Given the description of an element on the screen output the (x, y) to click on. 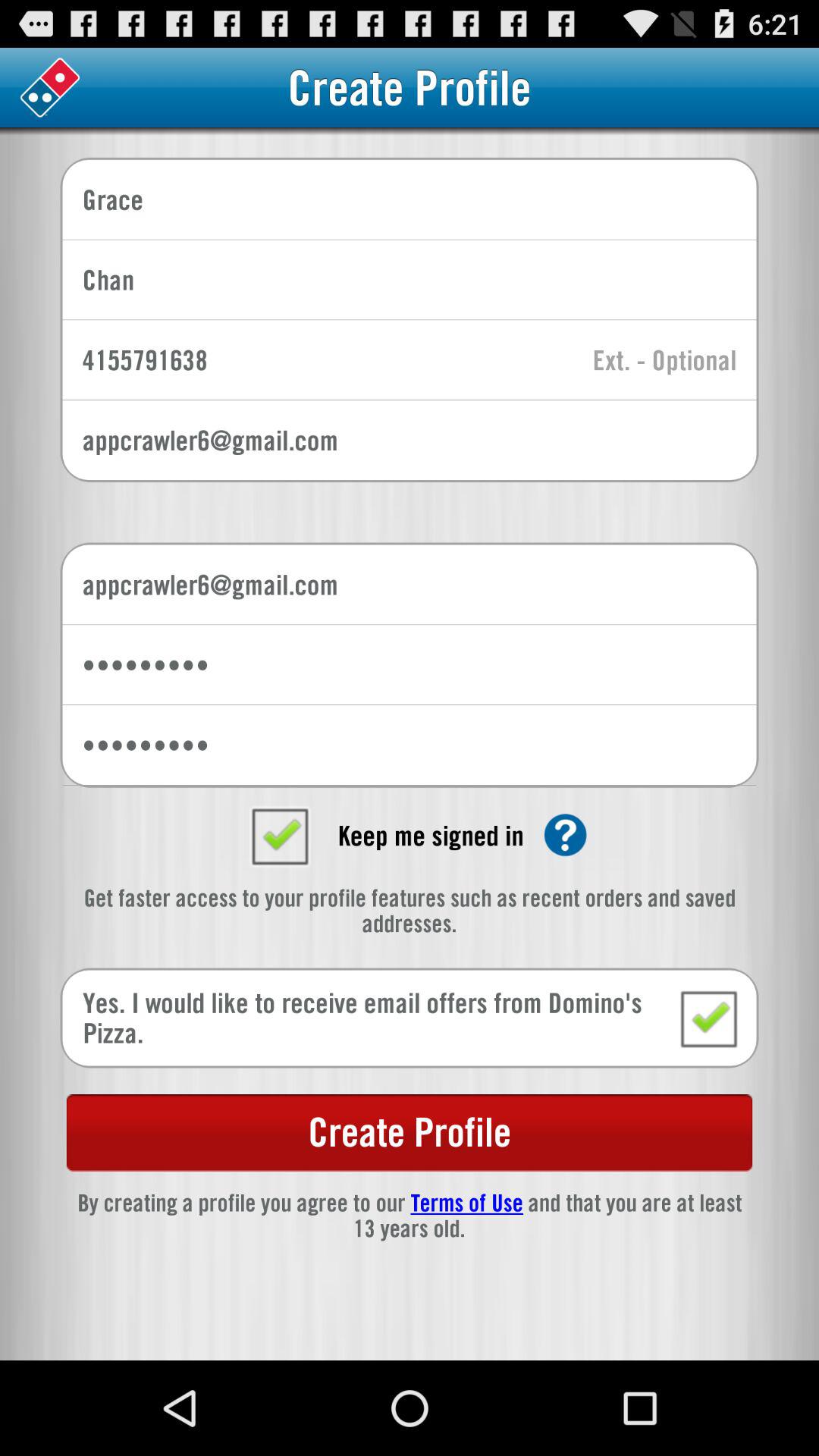
to provide help (565, 835)
